Given the description of an element on the screen output the (x, y) to click on. 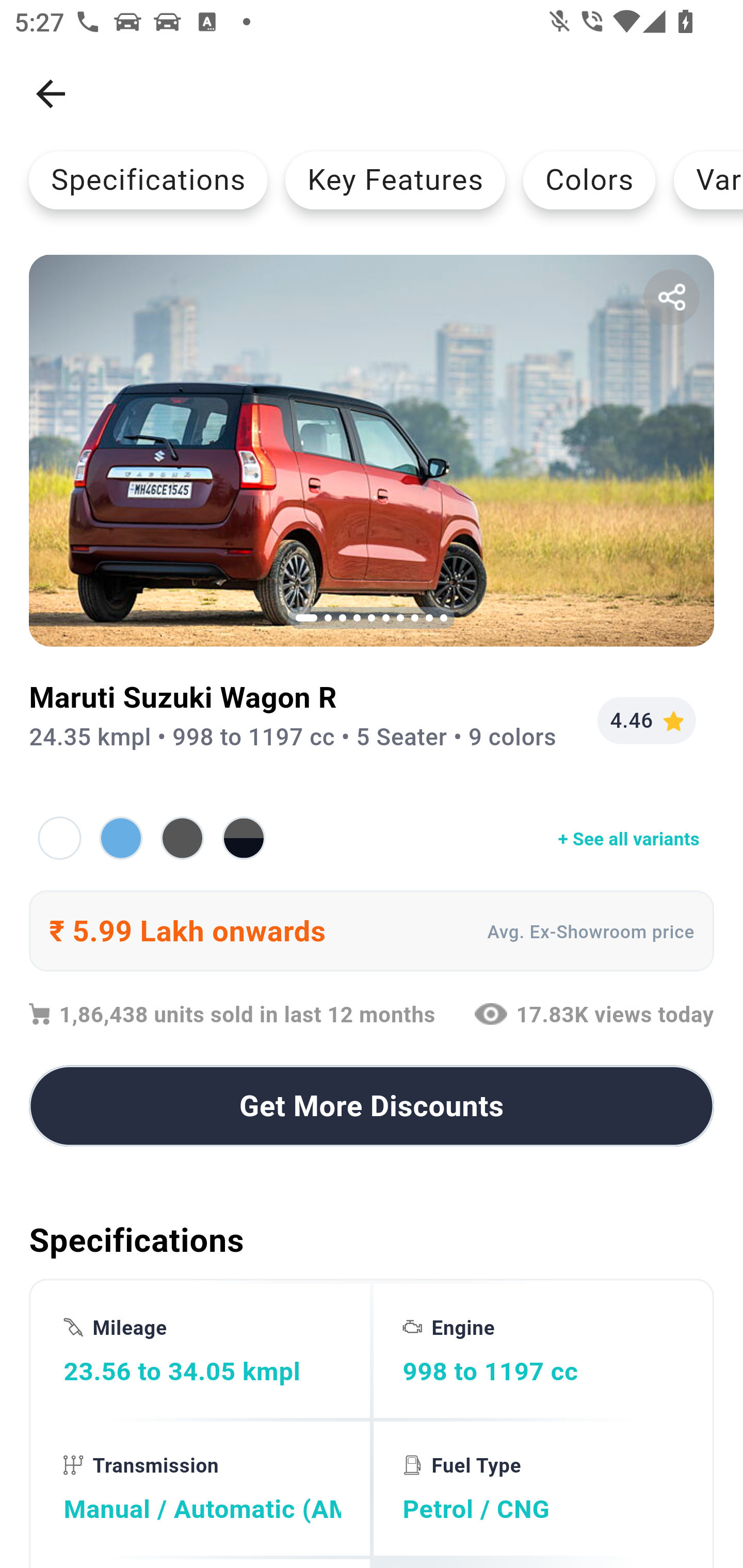
Back (50, 93)
Specifications (147, 180)
Key Features (395, 180)
Colors (589, 180)
+ See all variants (371, 837)
Mileage 23.56 to 34.05 kmpl (202, 1350)
Engine 998 to 1197 cc (540, 1350)
Transmission Manual / Automatic (AMT) (202, 1488)
Fuel Type Petrol / CNG (540, 1488)
